Given the description of an element on the screen output the (x, y) to click on. 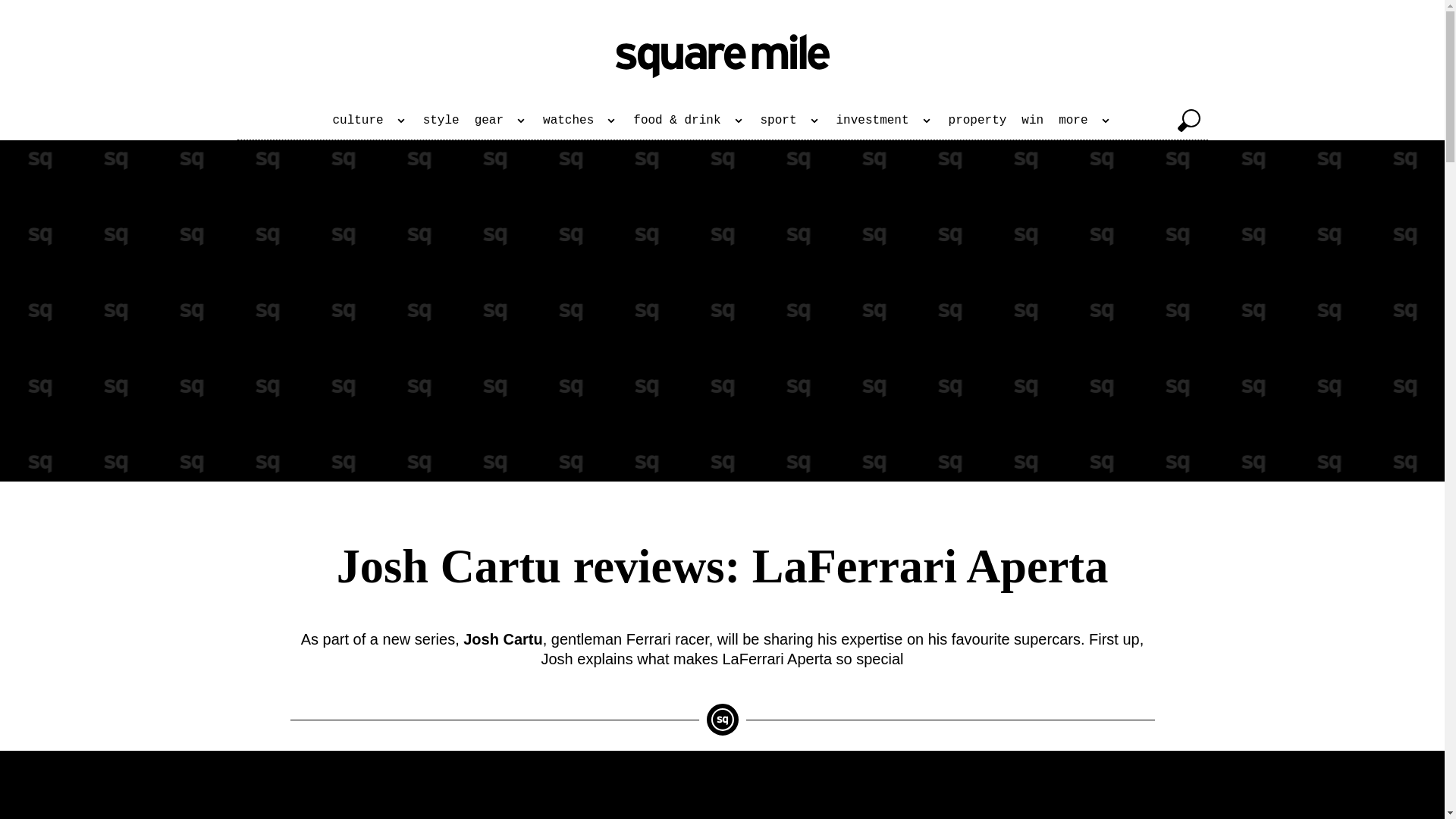
culture (369, 120)
Style (440, 120)
gear (501, 120)
investment (884, 120)
Square Mile (722, 56)
Culture (369, 120)
sport (790, 120)
watches (580, 120)
Watches (580, 120)
Gear (501, 120)
style (440, 120)
